Given the description of an element on the screen output the (x, y) to click on. 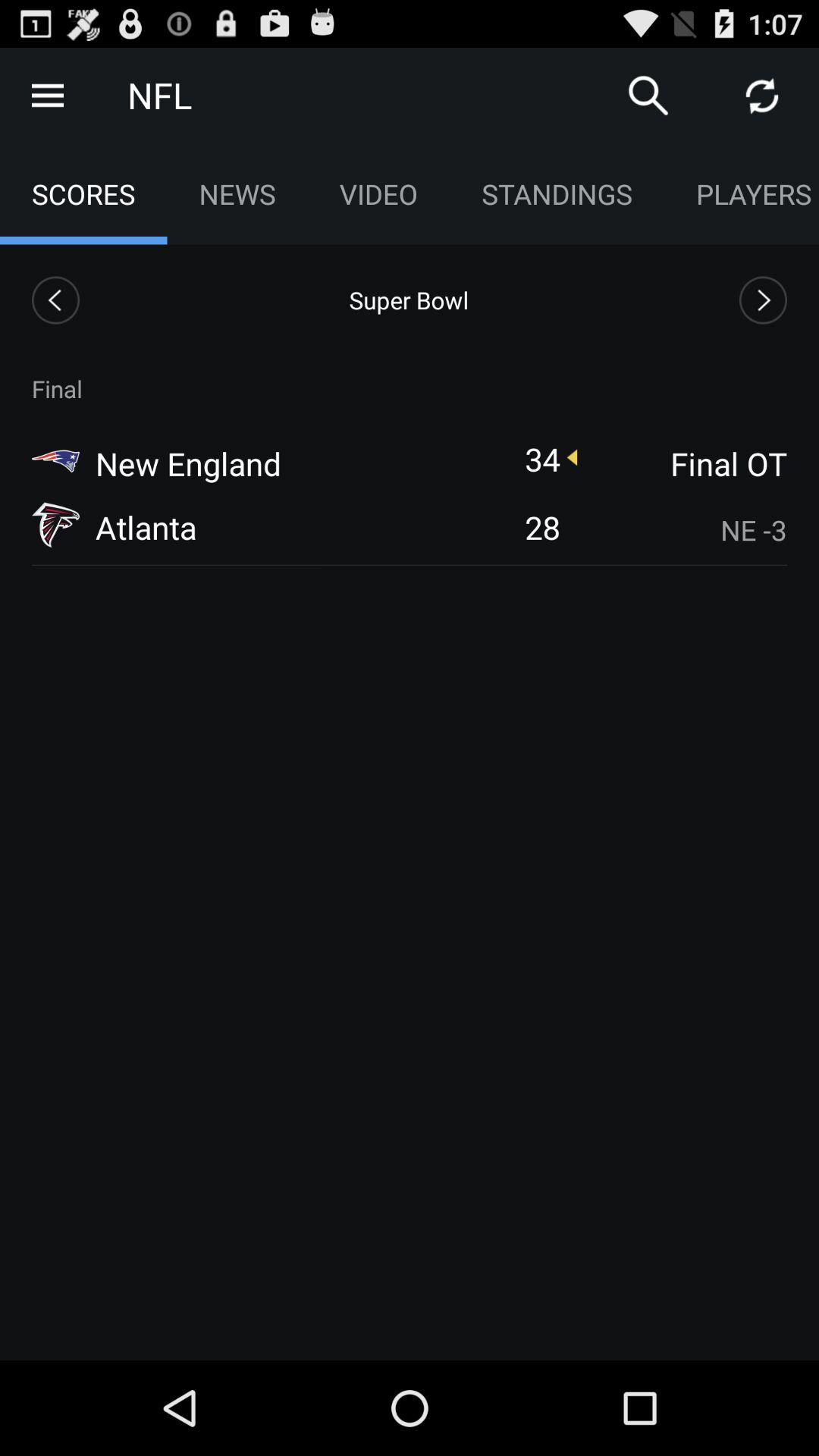
the toggle is used to refresh the page (762, 95)
